Given the description of an element on the screen output the (x, y) to click on. 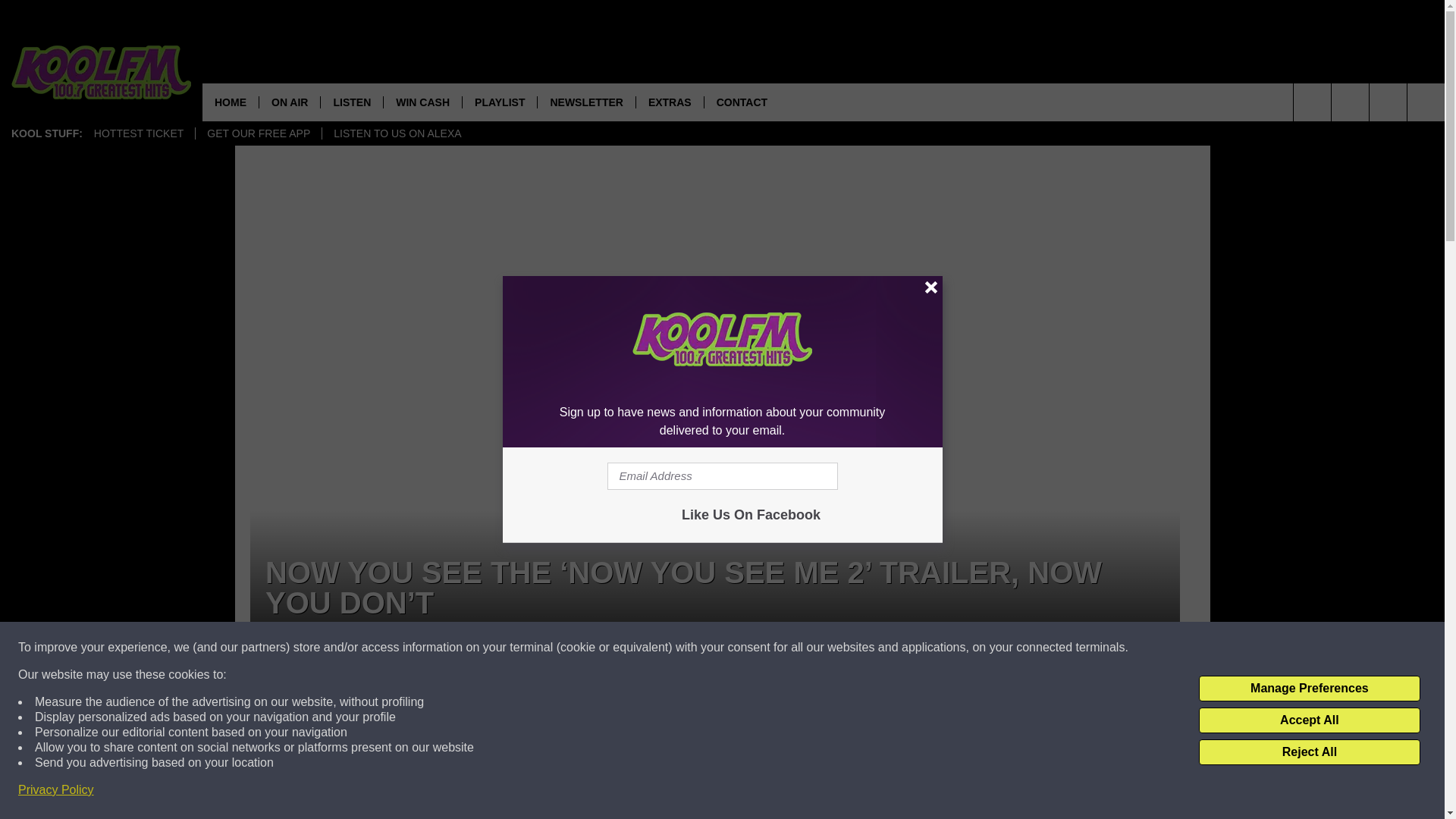
NEWSLETTER (585, 102)
CONTACT (740, 102)
Privacy Policy (55, 789)
Manage Preferences (1309, 688)
LISTEN TO US ON ALEXA (396, 133)
Share on Facebook (517, 724)
Accept All (1309, 720)
Reject All (1309, 751)
PLAYLIST (499, 102)
LISTEN (351, 102)
HOTTEST TICKET (138, 133)
WIN CASH (421, 102)
ON AIR (289, 102)
HOME (230, 102)
EXTRAS (668, 102)
